Given the description of an element on the screen output the (x, y) to click on. 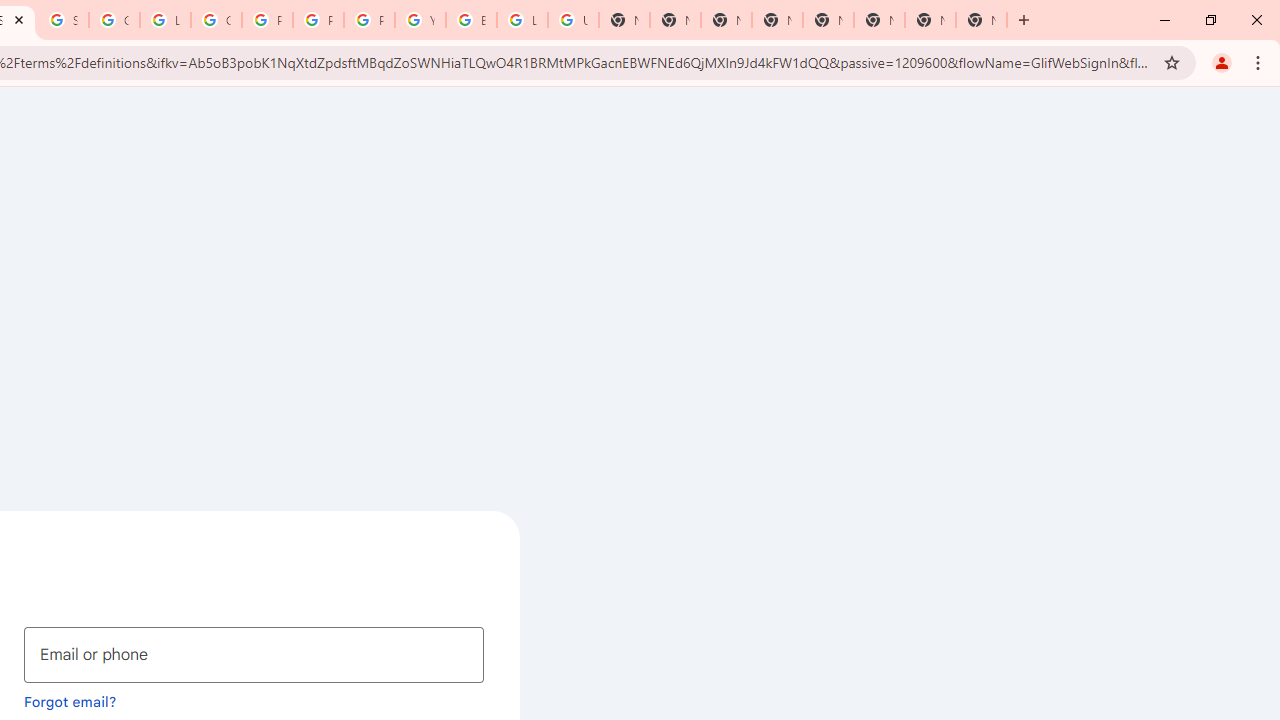
Forgot email? (70, 701)
New Tab (981, 20)
